Given the description of an element on the screen output the (x, y) to click on. 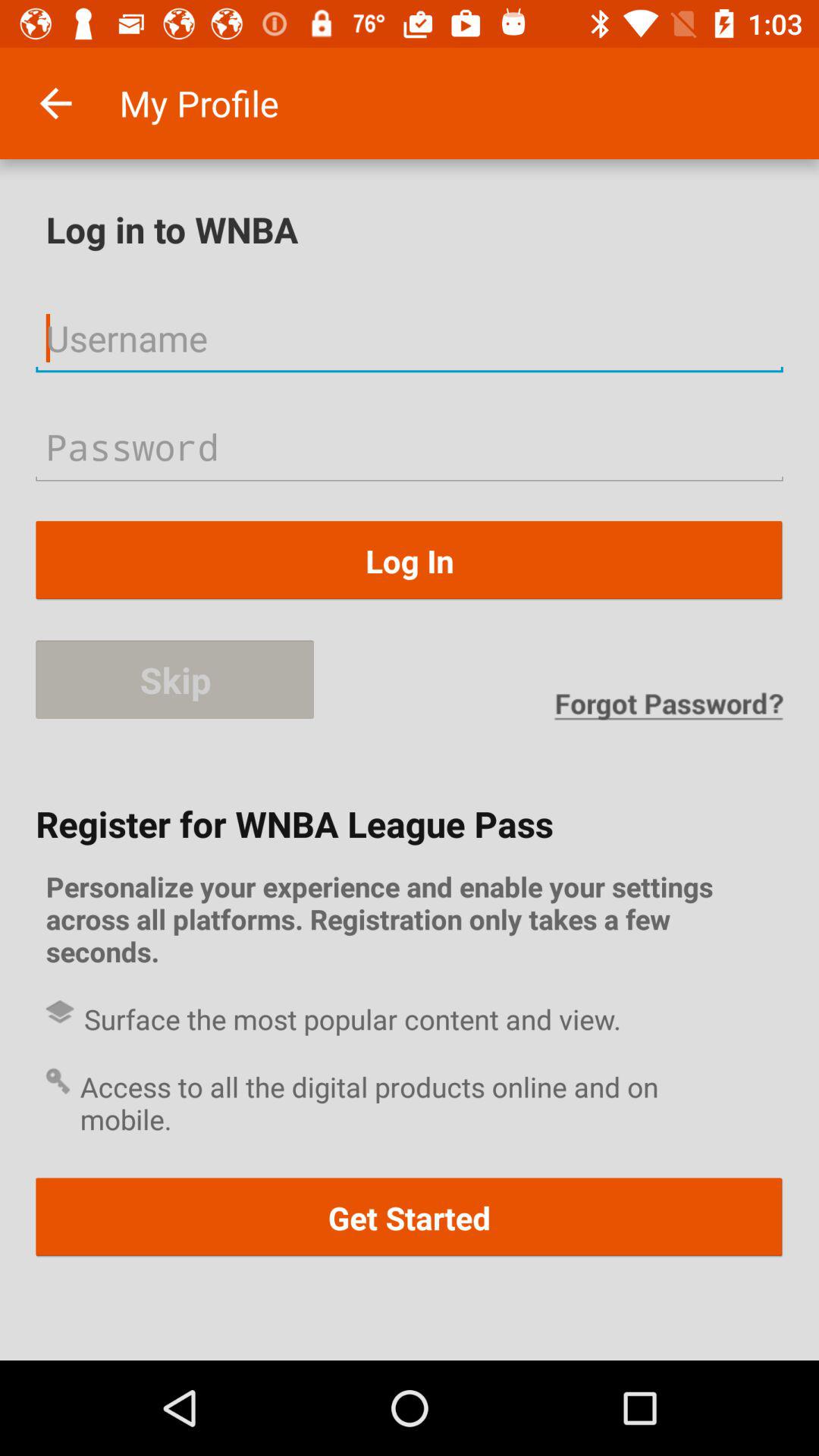
select the item on the left (174, 680)
